Given the description of an element on the screen output the (x, y) to click on. 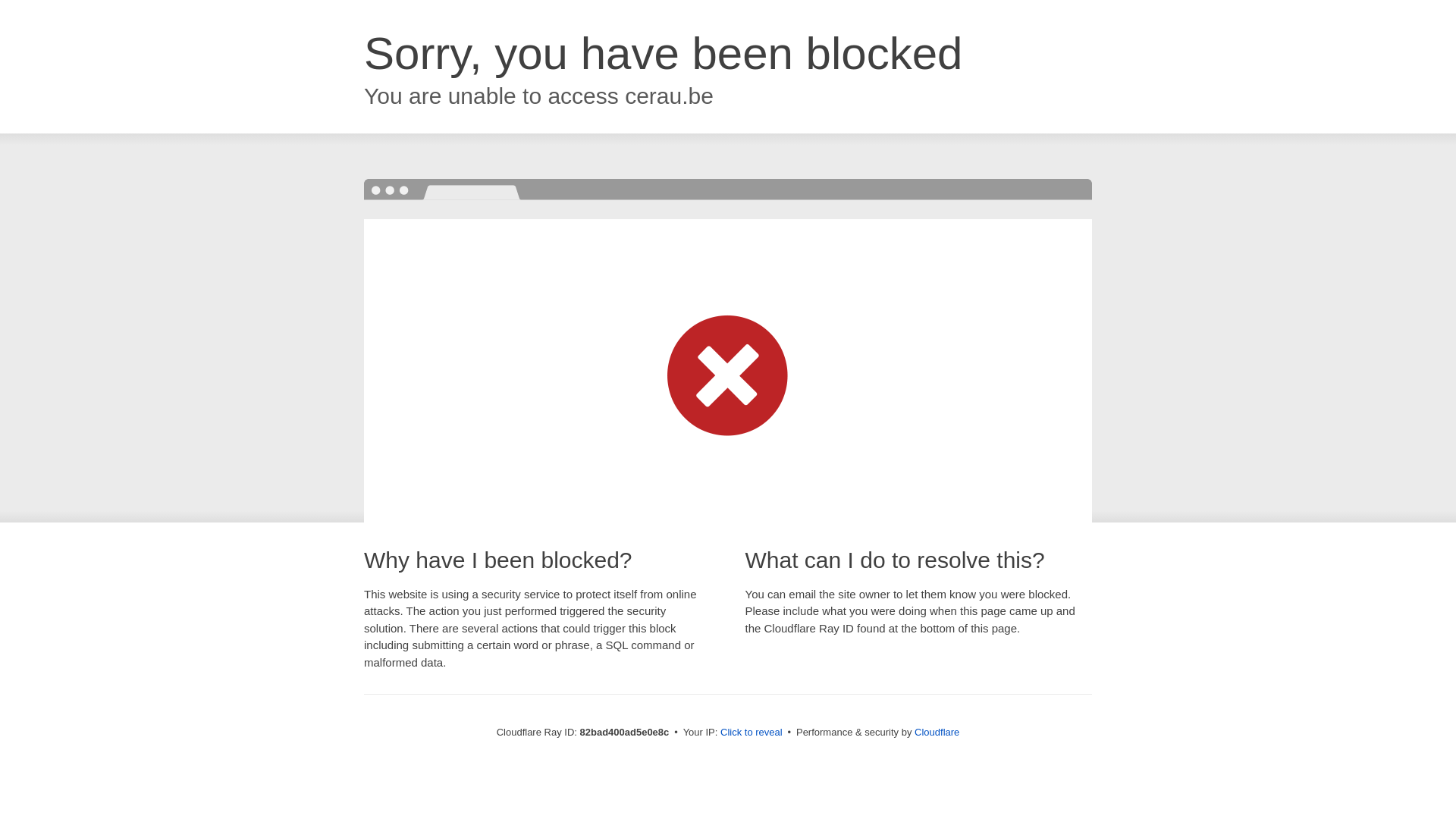
Click to reveal Element type: text (751, 732)
Cloudflare Element type: text (936, 731)
